Given the description of an element on the screen output the (x, y) to click on. 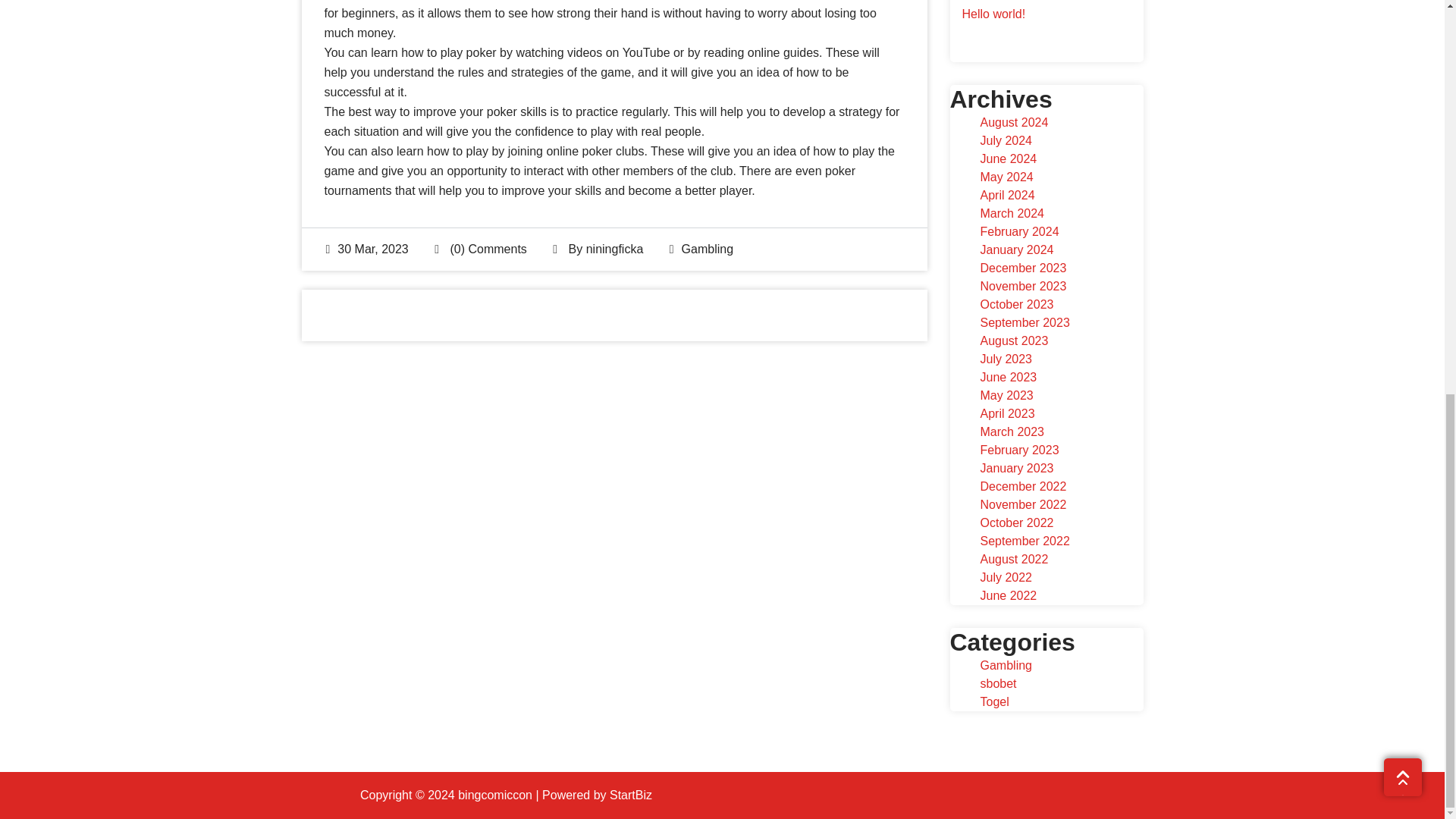
July 2024 (1005, 140)
niningficka (614, 248)
April 2024 (1006, 195)
August 2024 (1013, 122)
July 2023 (1005, 358)
A WordPress Commenter (1029, 1)
September 2023 (1023, 322)
Hello world! (992, 13)
August 2023 (1013, 340)
January 2023 (1015, 468)
